Given the description of an element on the screen output the (x, y) to click on. 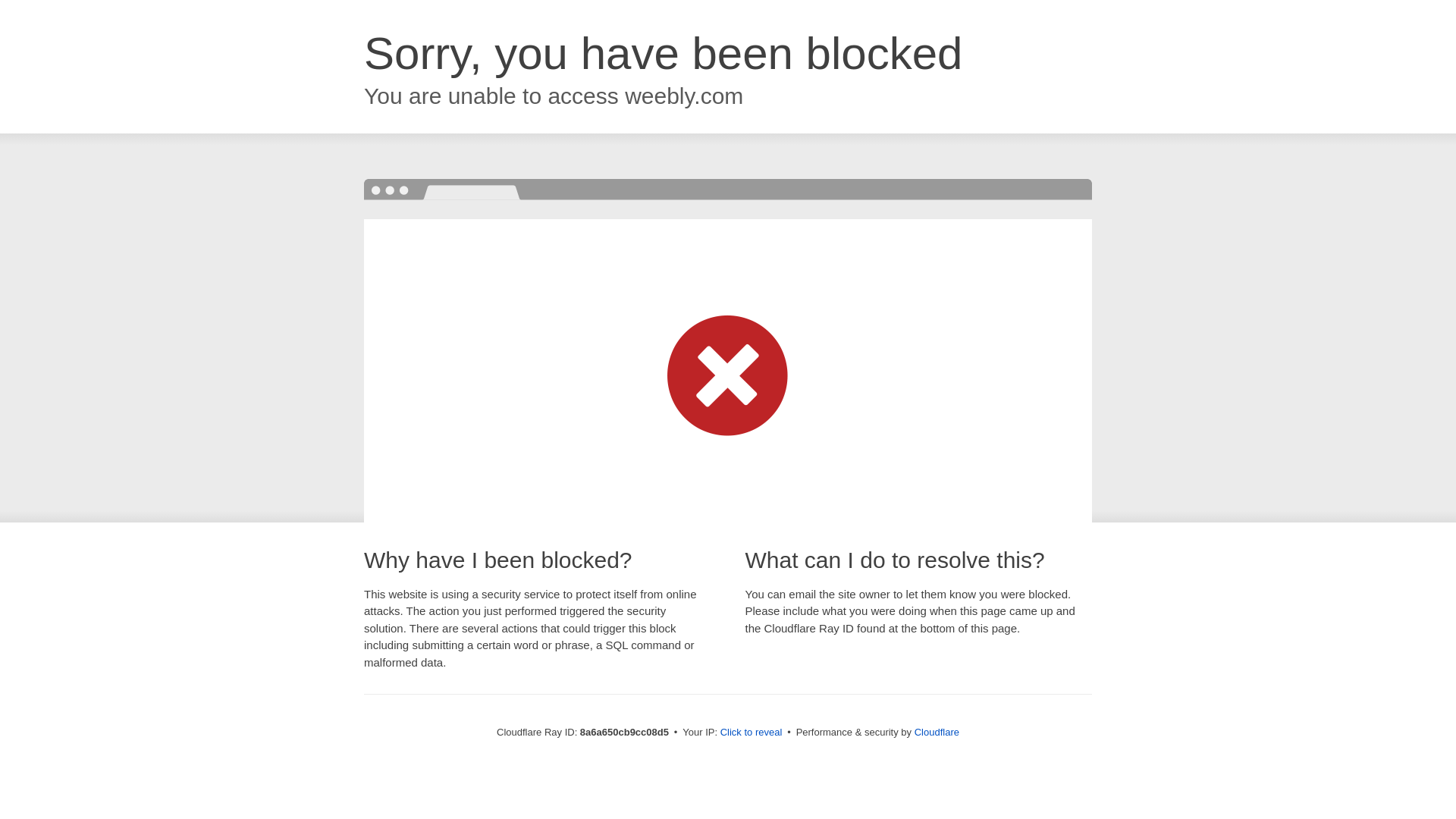
Click to reveal (751, 732)
Cloudflare (936, 731)
